Given the description of an element on the screen output the (x, y) to click on. 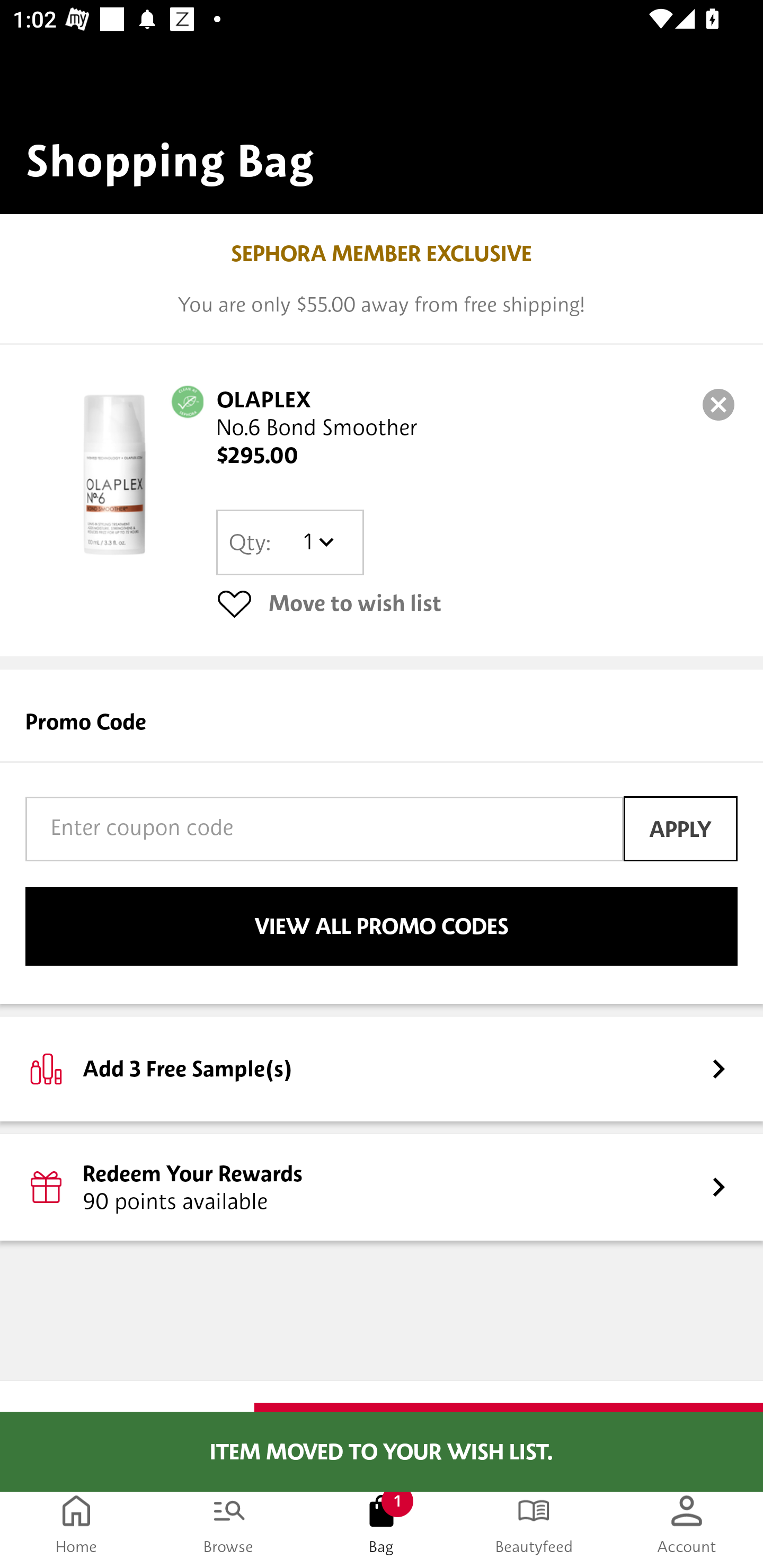
1 (317, 542)
Move to wish list (476, 602)
APPLY (680, 828)
Enter coupon code (324, 828)
VIEW ALL PROMO CODES (381, 926)
Add 3 Free Sample(s) (381, 1068)
Redeem Your Rewards 90 points available (381, 1186)
Home (76, 1523)
Browse (228, 1523)
Beautyfeed (533, 1523)
Account (686, 1523)
